Given the description of an element on the screen output the (x, y) to click on. 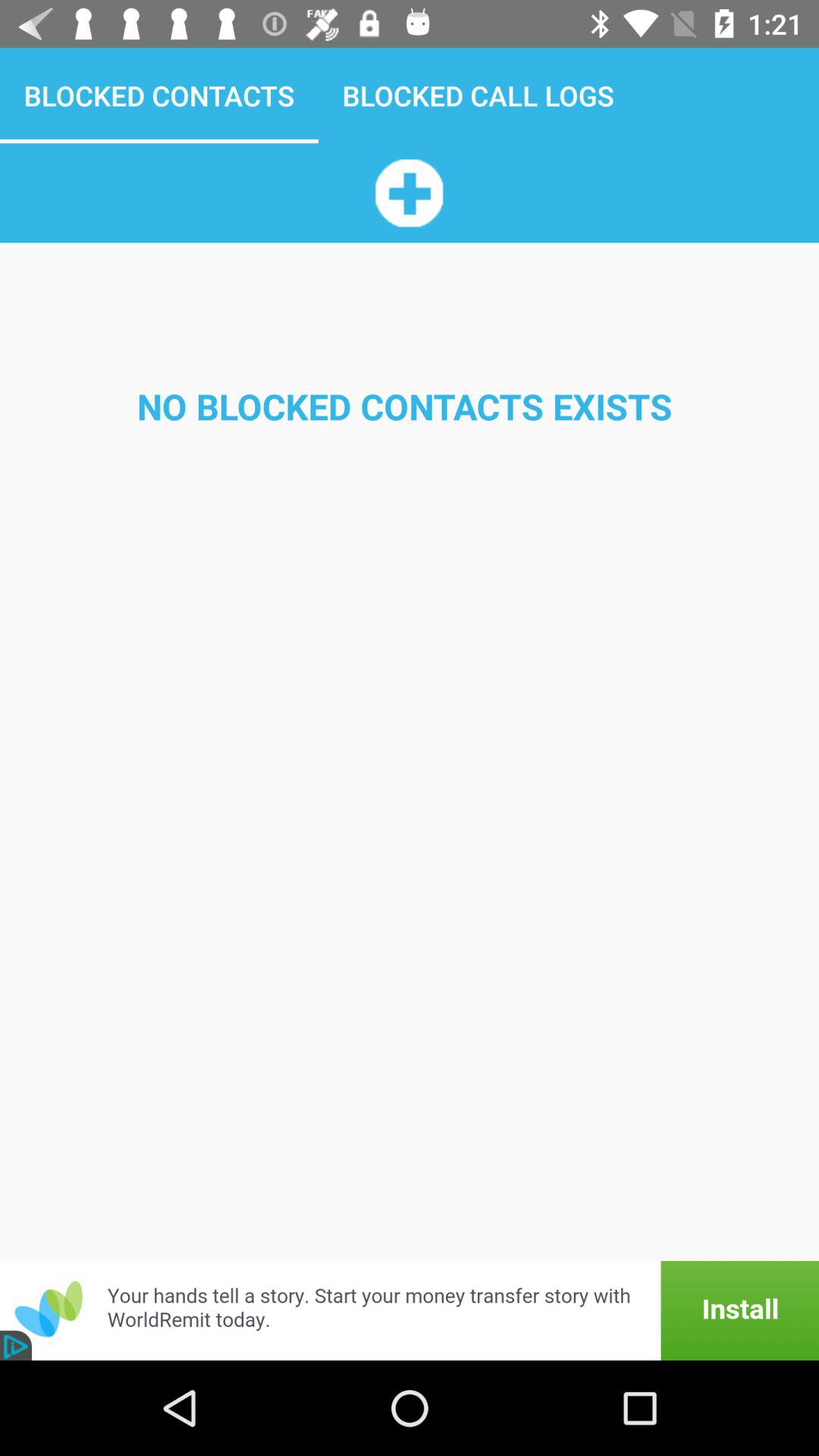
advertisement (409, 1310)
